Given the description of an element on the screen output the (x, y) to click on. 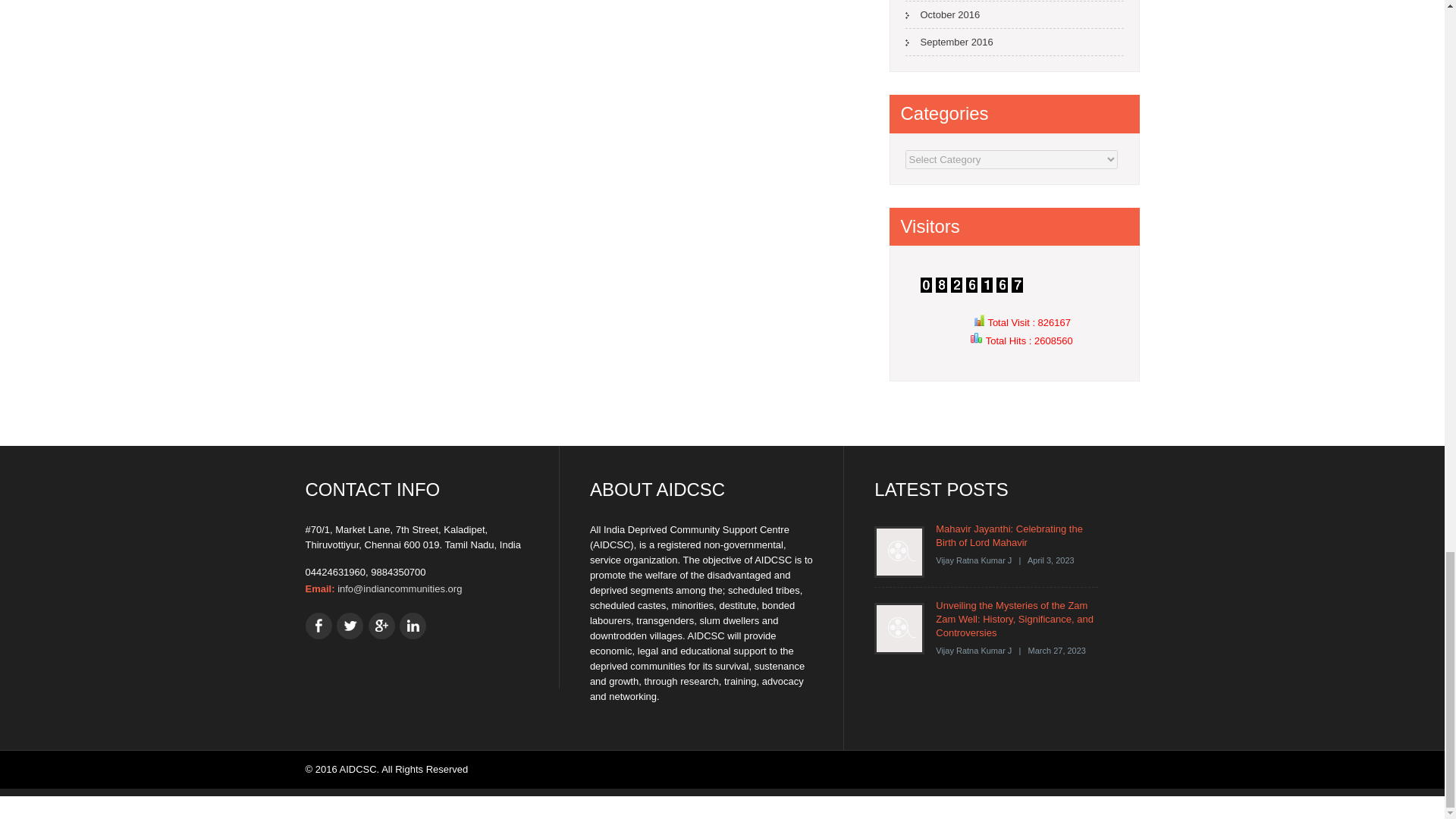
twitter (349, 625)
linkedin (412, 625)
google-plus (381, 625)
facebook (317, 625)
